Given the description of an element on the screen output the (x, y) to click on. 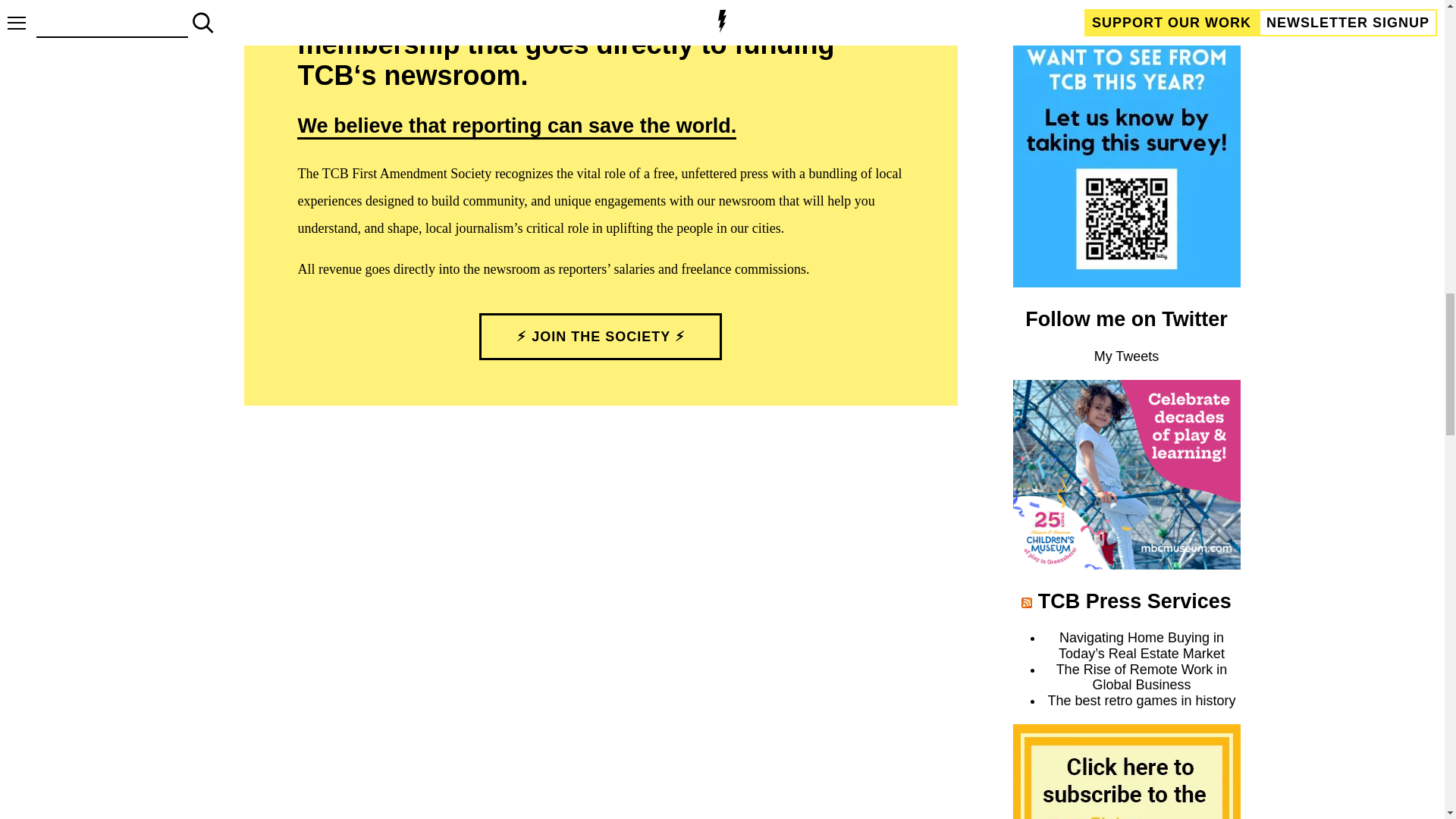
The Rise of Remote Work in Global Business (1142, 676)
TCB Press Services (1134, 600)
My Tweets (1126, 355)
